Given the description of an element on the screen output the (x, y) to click on. 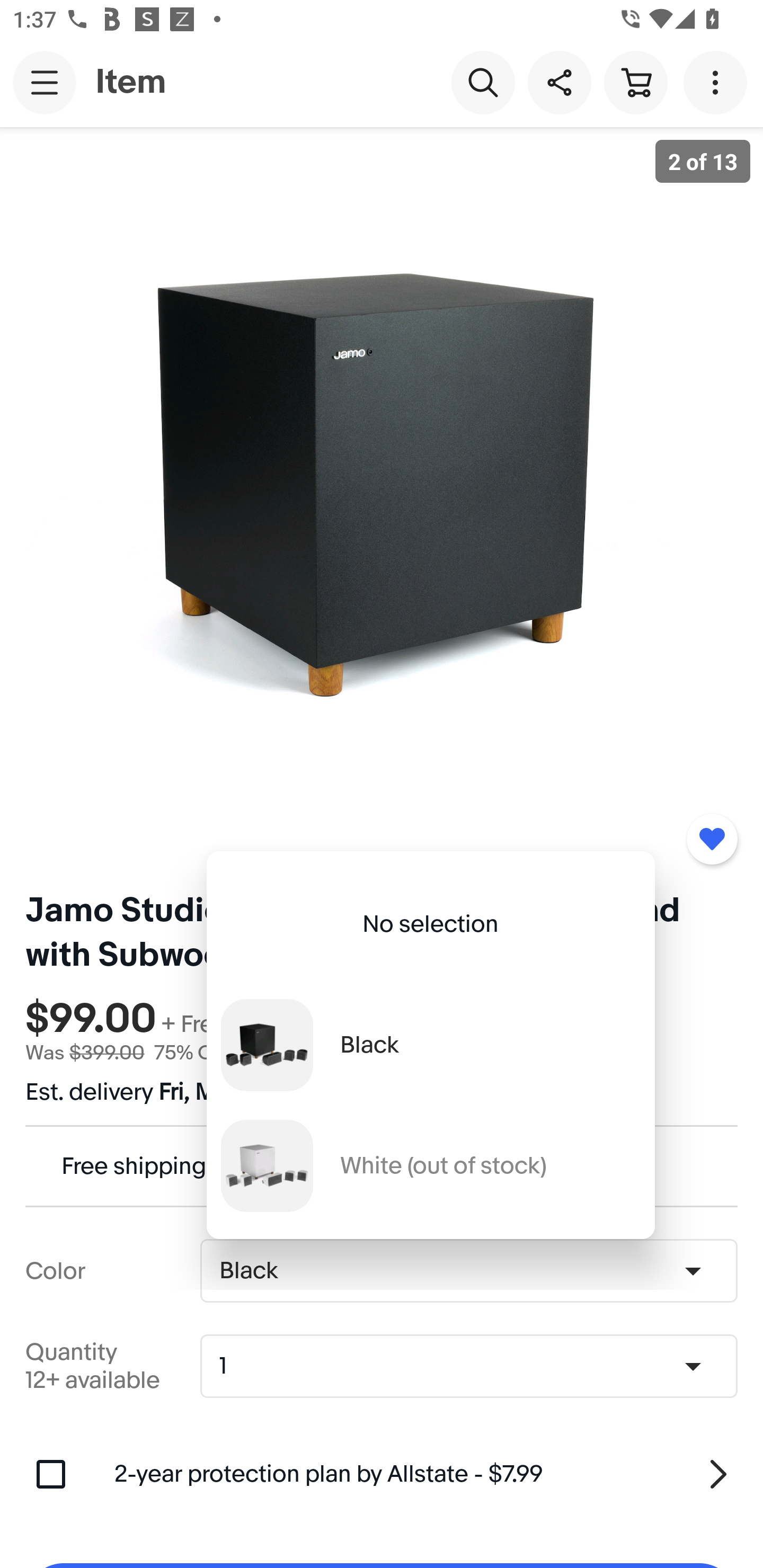
No selection (430, 923)
Black (430, 1044)
